Given the description of an element on the screen output the (x, y) to click on. 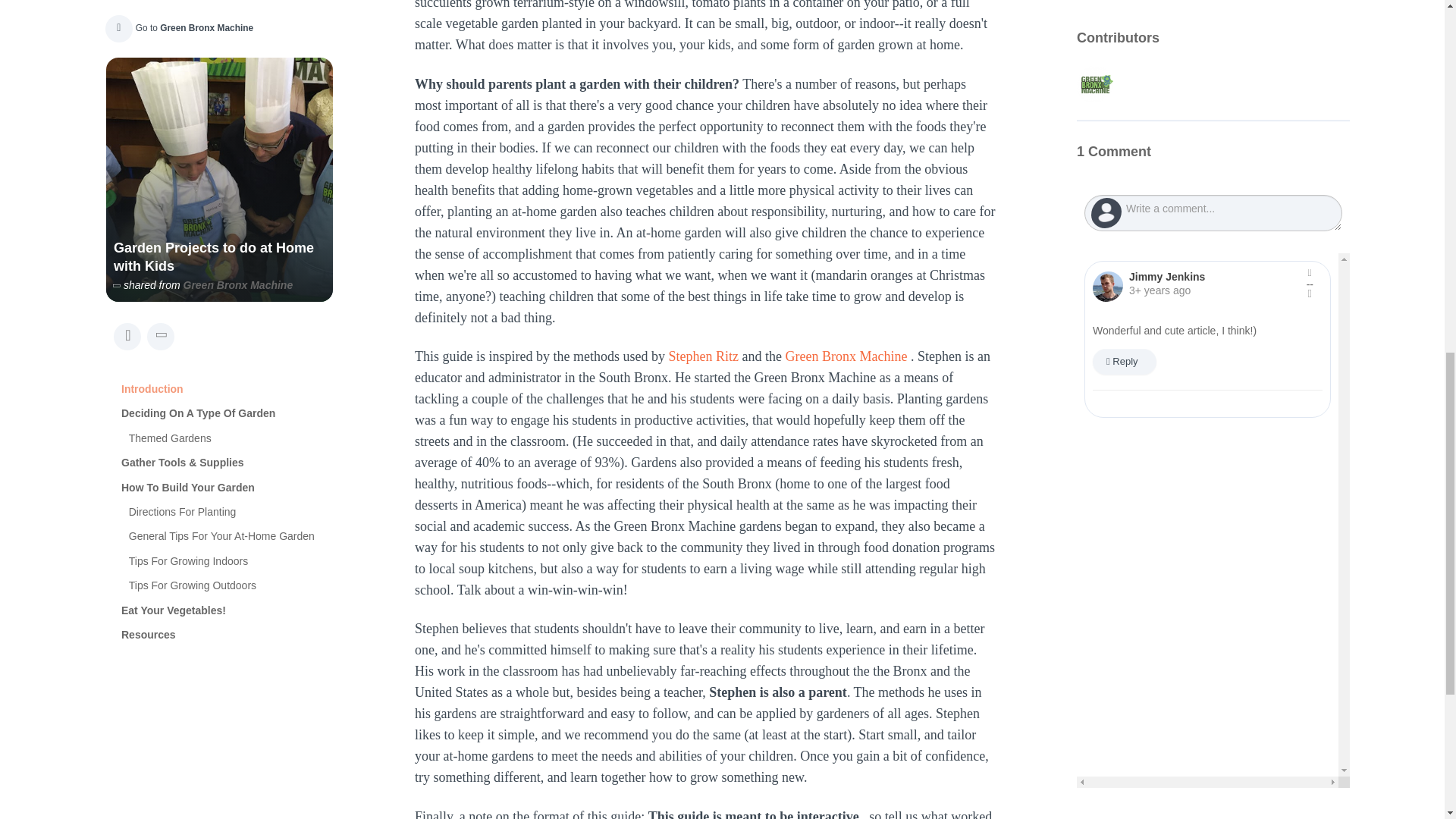
Green Bronx Machine (845, 355)
Stephen Ritz (703, 355)
